Given the description of an element on the screen output the (x, y) to click on. 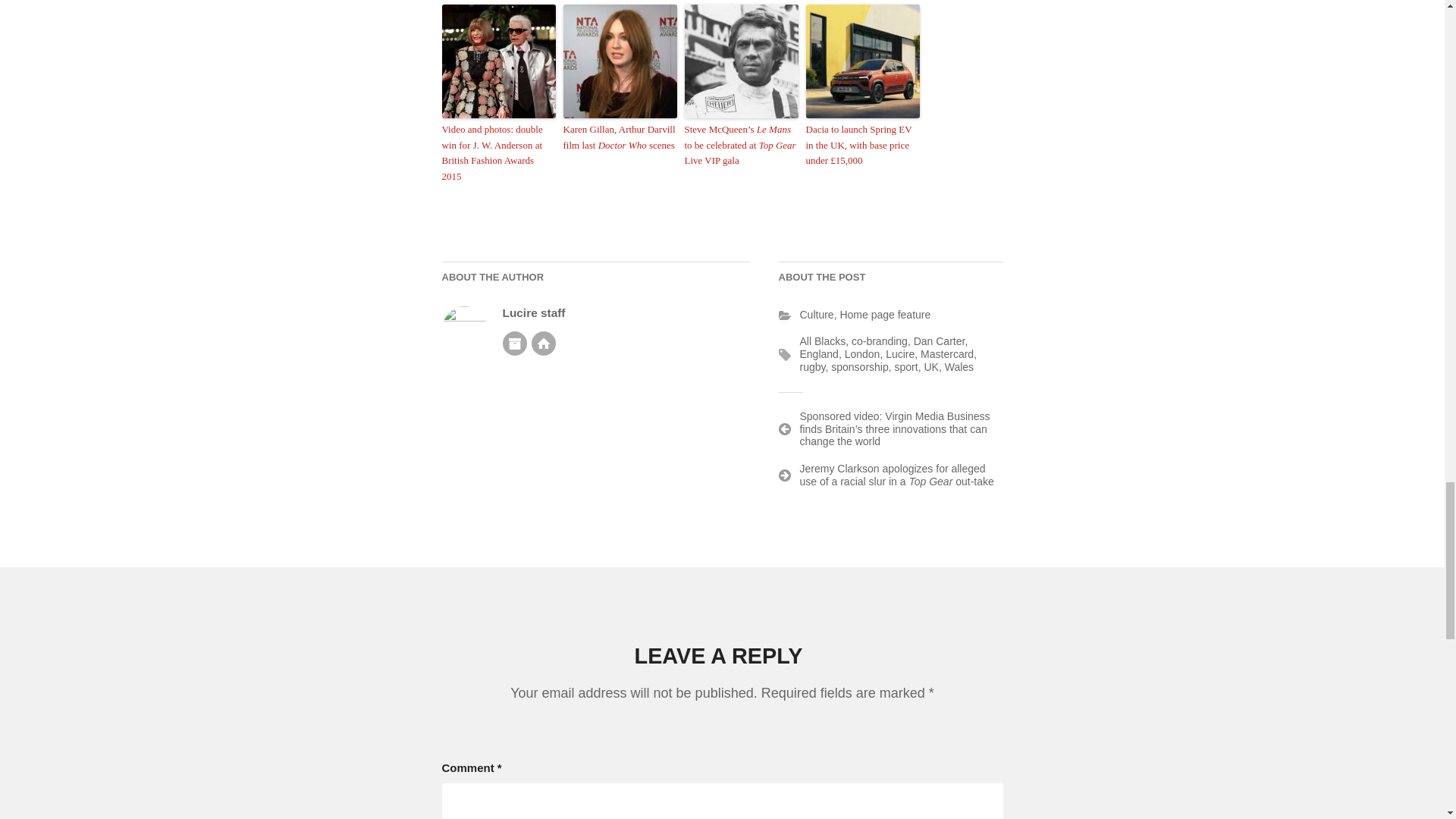
Author archive (513, 343)
Lucire staff (533, 312)
Posts by Lucire staff (533, 312)
Culture (815, 314)
Karen Gillan, Arthur Darvill film last Doctor Who scenes (619, 137)
Author website (543, 343)
